Given the description of an element on the screen output the (x, y) to click on. 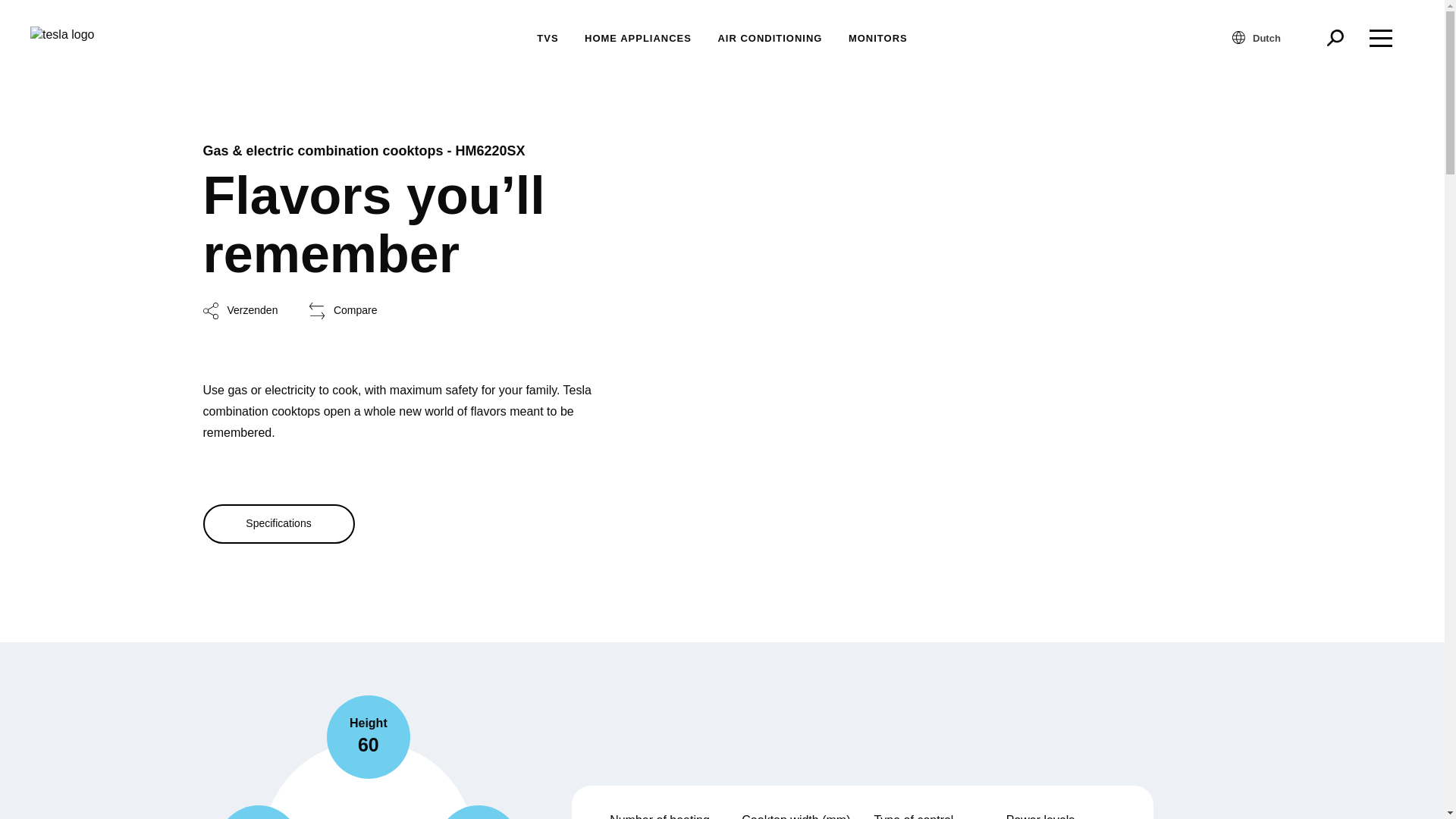
TVS (547, 38)
HOME APPLIANCES (638, 38)
language (1237, 37)
Dutch (1272, 37)
MONITORS (877, 38)
AIR CONDITIONING (769, 38)
Verzenden (240, 310)
